Given the description of an element on the screen output the (x, y) to click on. 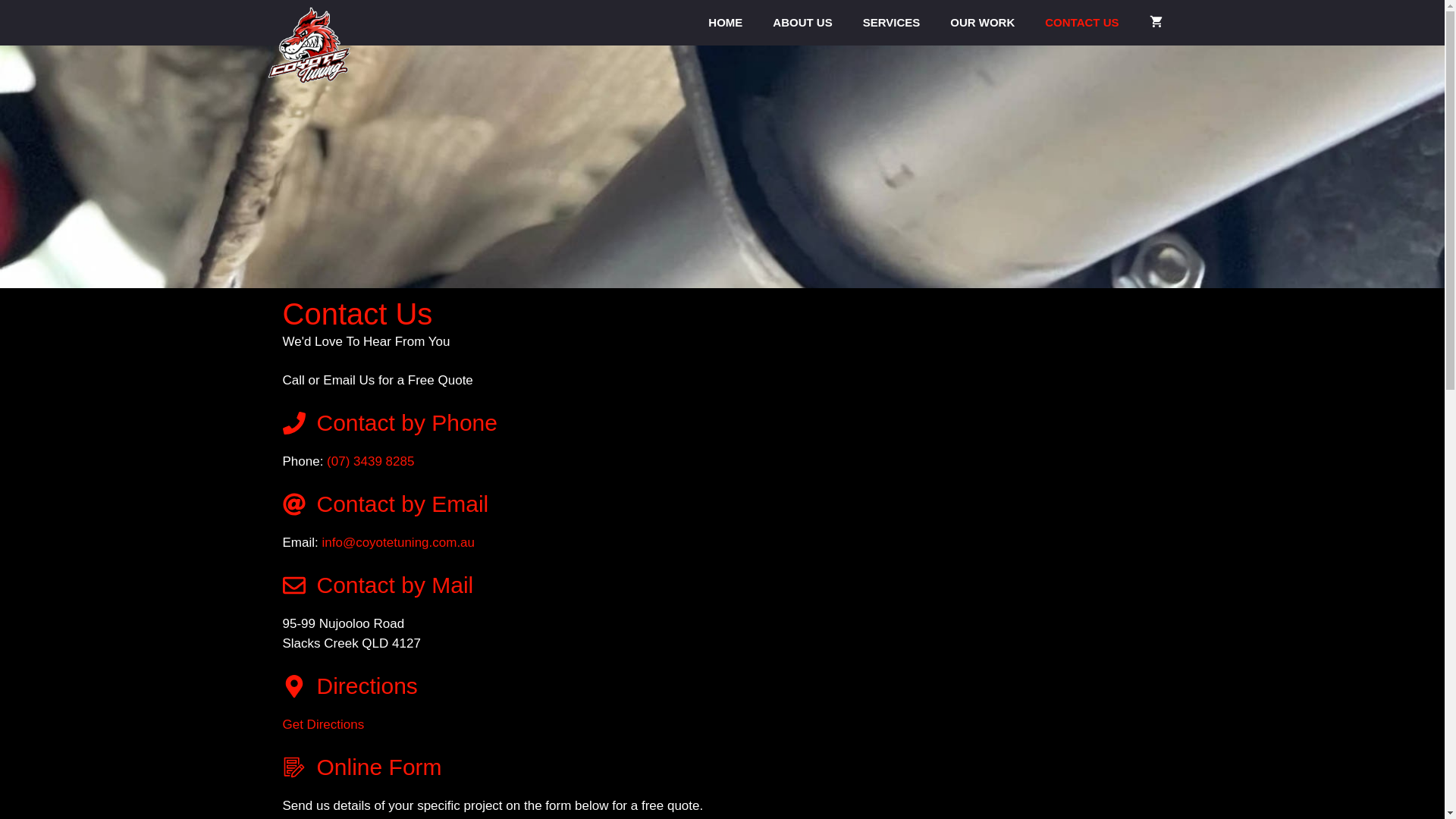
info@coyotetuning.com.au Element type: text (397, 542)
SERVICES Element type: text (891, 22)
CONTACT US Element type: text (1081, 22)
OUR WORK Element type: text (982, 22)
View your shopping cart Element type: hover (1155, 22)
HOME Element type: text (725, 22)
(07) 3439 8285 Element type: text (370, 461)
ABOUT US Element type: text (802, 22)
Get Directions Element type: text (323, 724)
